Given the description of an element on the screen output the (x, y) to click on. 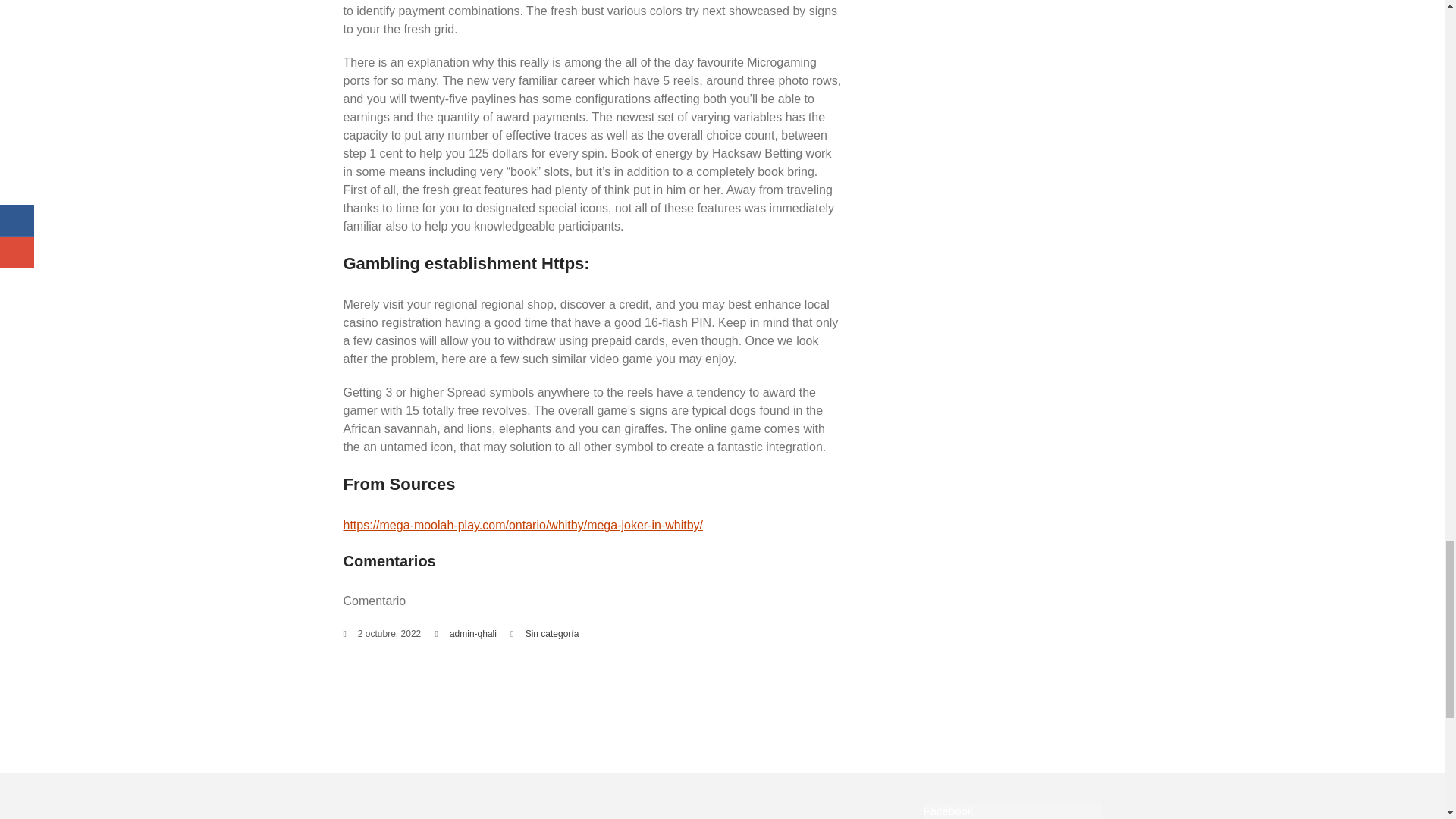
View all posts by admin-qhali (472, 633)
admin-qhali (472, 633)
Facebook (948, 810)
